Given the description of an element on the screen output the (x, y) to click on. 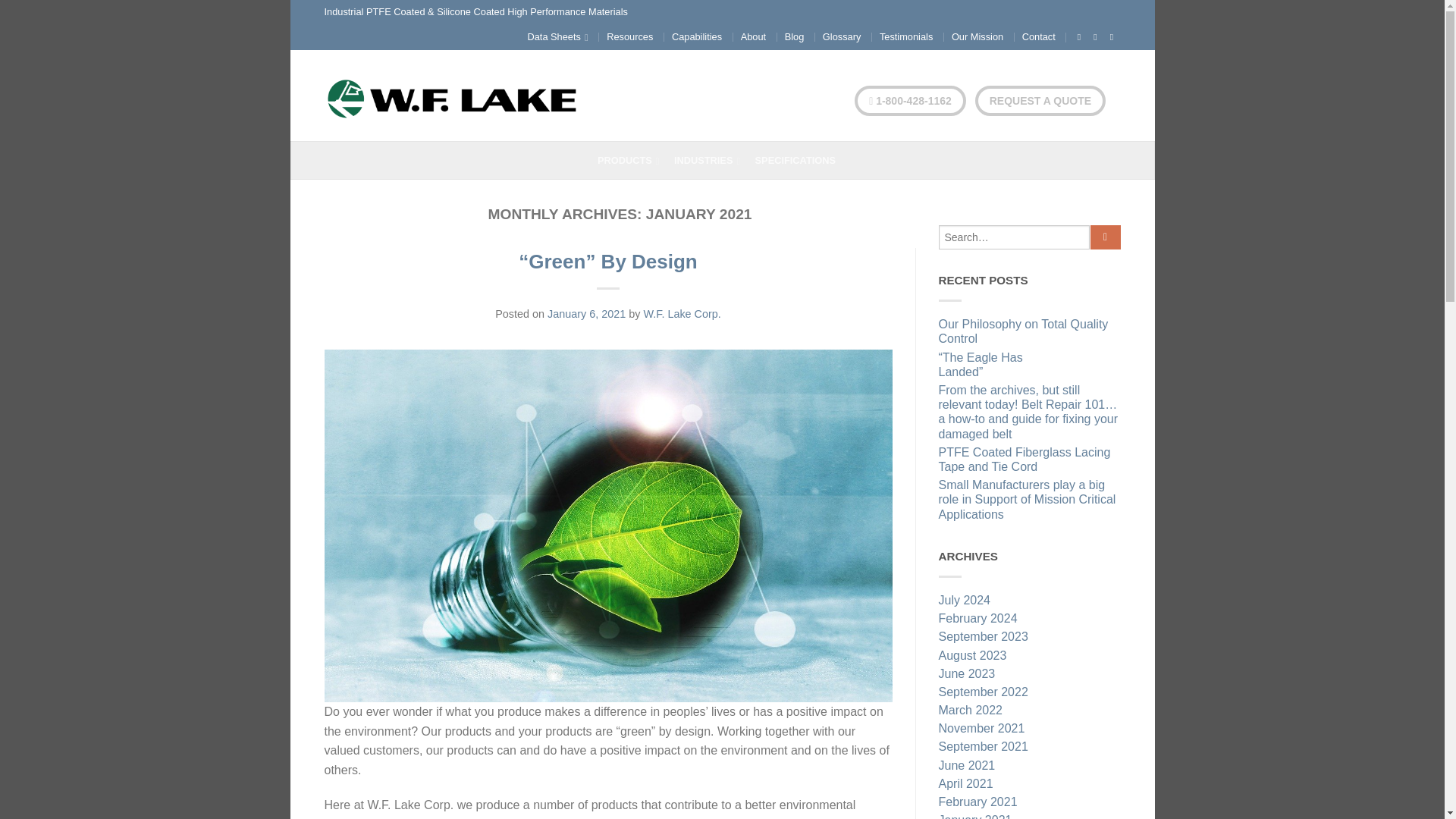
Blog (794, 36)
Contact (1038, 36)
Glossary (841, 36)
Data Sheets (557, 36)
REQUEST A QUOTE (1040, 100)
Click here to get a quote (1040, 100)
Testimonials (906, 36)
SPECIFICATIONS (801, 160)
Resources (629, 36)
January 6, 2021 (586, 313)
Our Mission (977, 36)
Contact us today (910, 100)
Follow us on Facebook (1078, 36)
Follow us on Instagram (1095, 36)
